Given the description of an element on the screen output the (x, y) to click on. 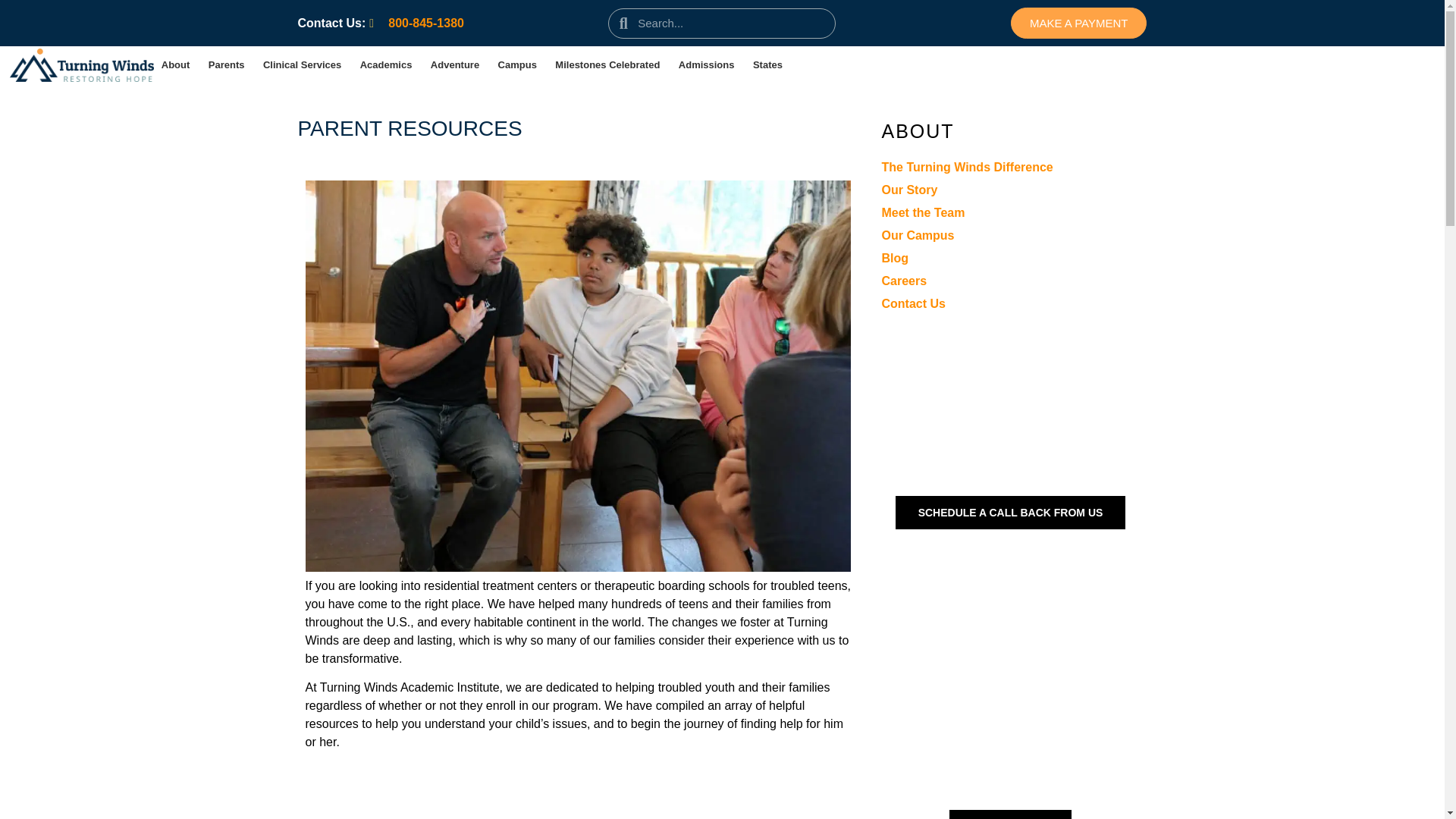
About (175, 64)
Parents (226, 64)
TW-LOGOS-MASTER (82, 64)
MAKE A PAYMENT (1078, 22)
800-845-1380 (416, 22)
